Given the description of an element on the screen output the (x, y) to click on. 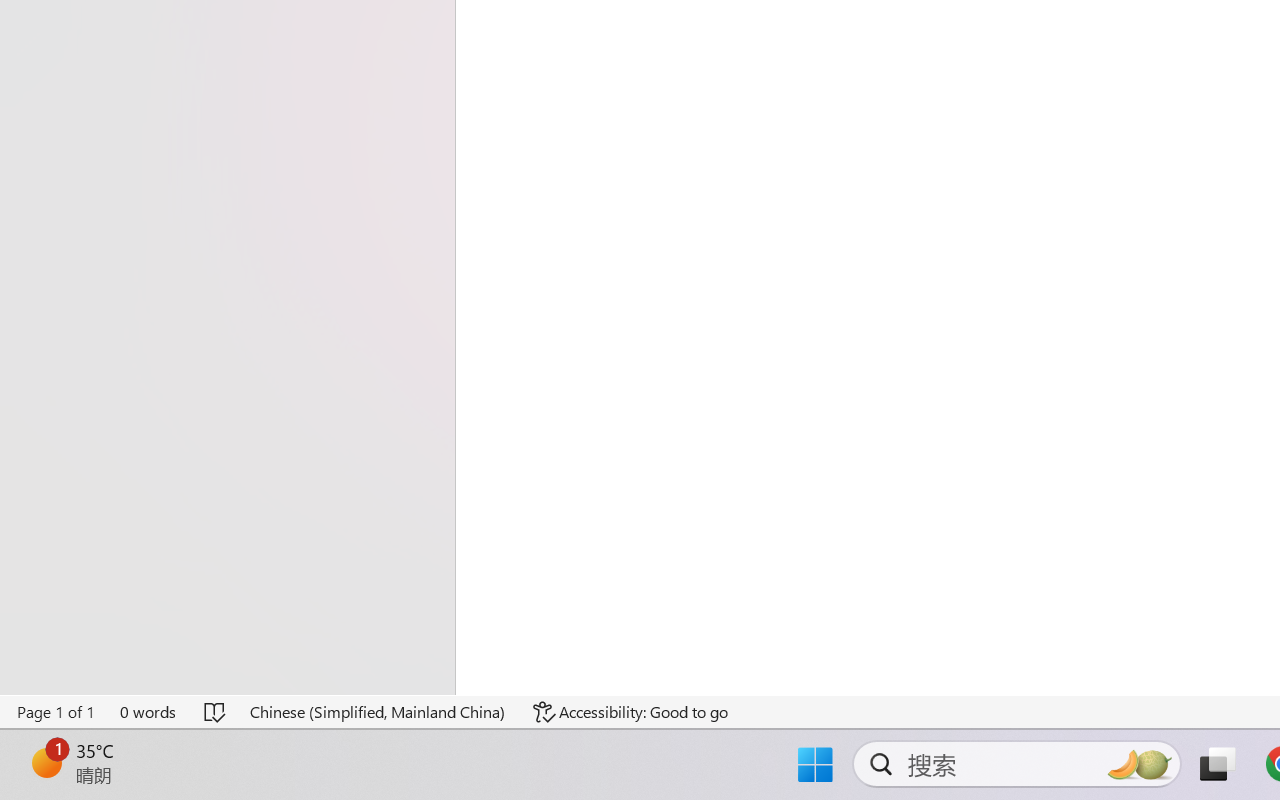
Language Chinese (Simplified, Mainland China) (378, 712)
